Given the description of an element on the screen output the (x, y) to click on. 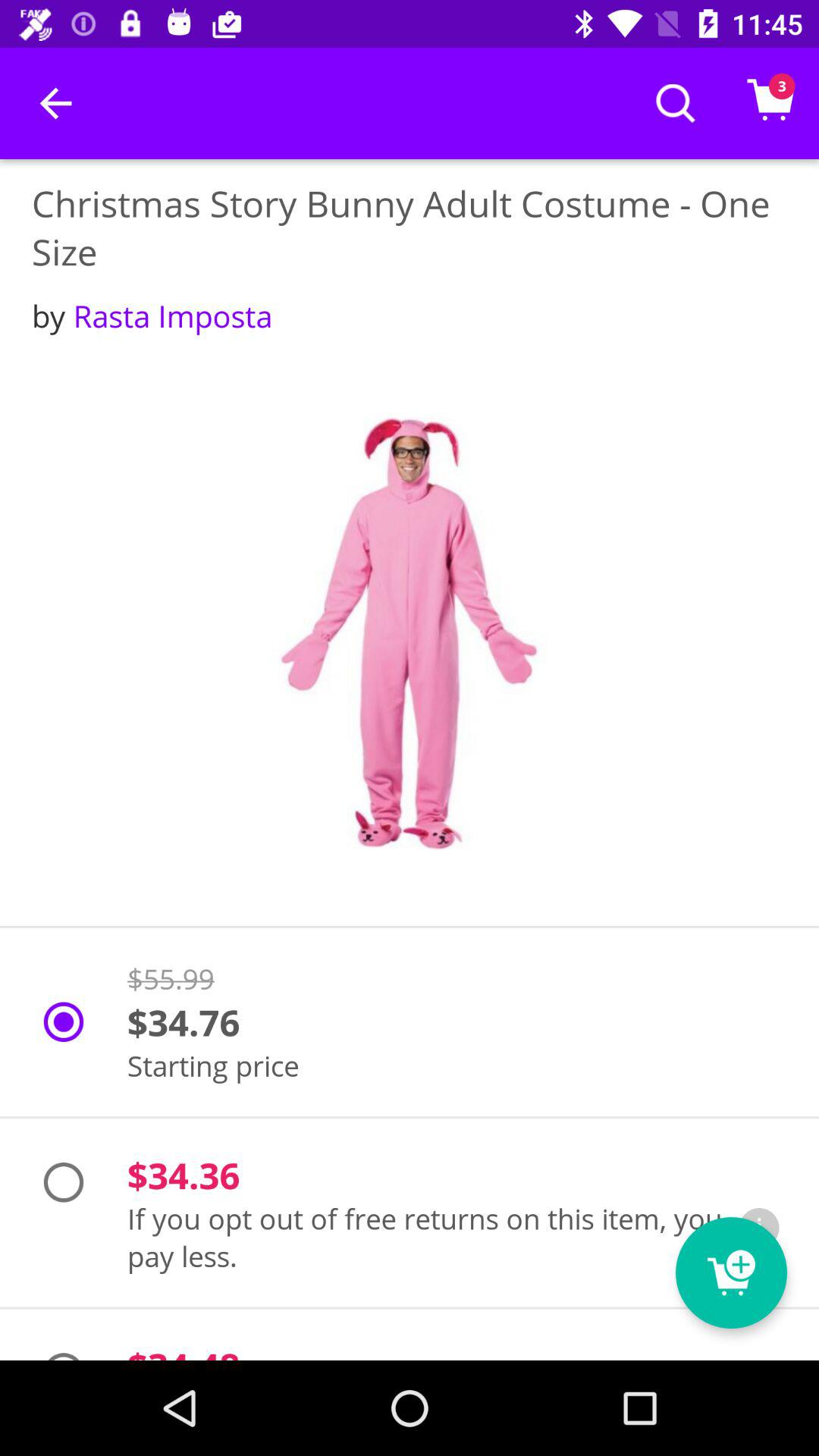
turn off the icon above christmas story bunny icon (55, 103)
